Given the description of an element on the screen output the (x, y) to click on. 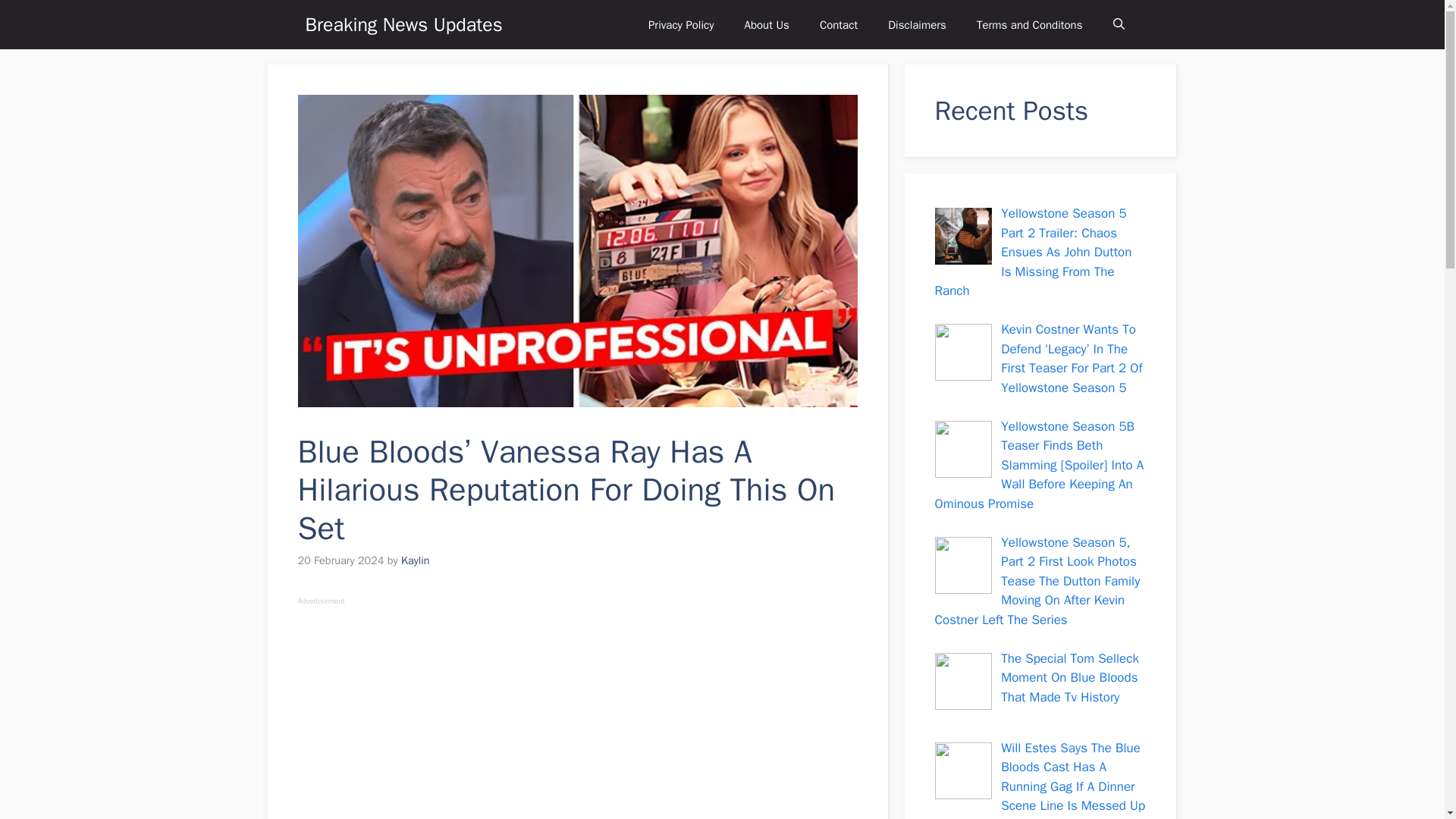
View all posts by Kaylin (415, 560)
Terms and Conditons (1028, 23)
Kaylin (415, 560)
Breaking News Updates (403, 24)
Disclaimers (916, 23)
About Us (767, 23)
Privacy Policy (681, 23)
